Given the description of an element on the screen output the (x, y) to click on. 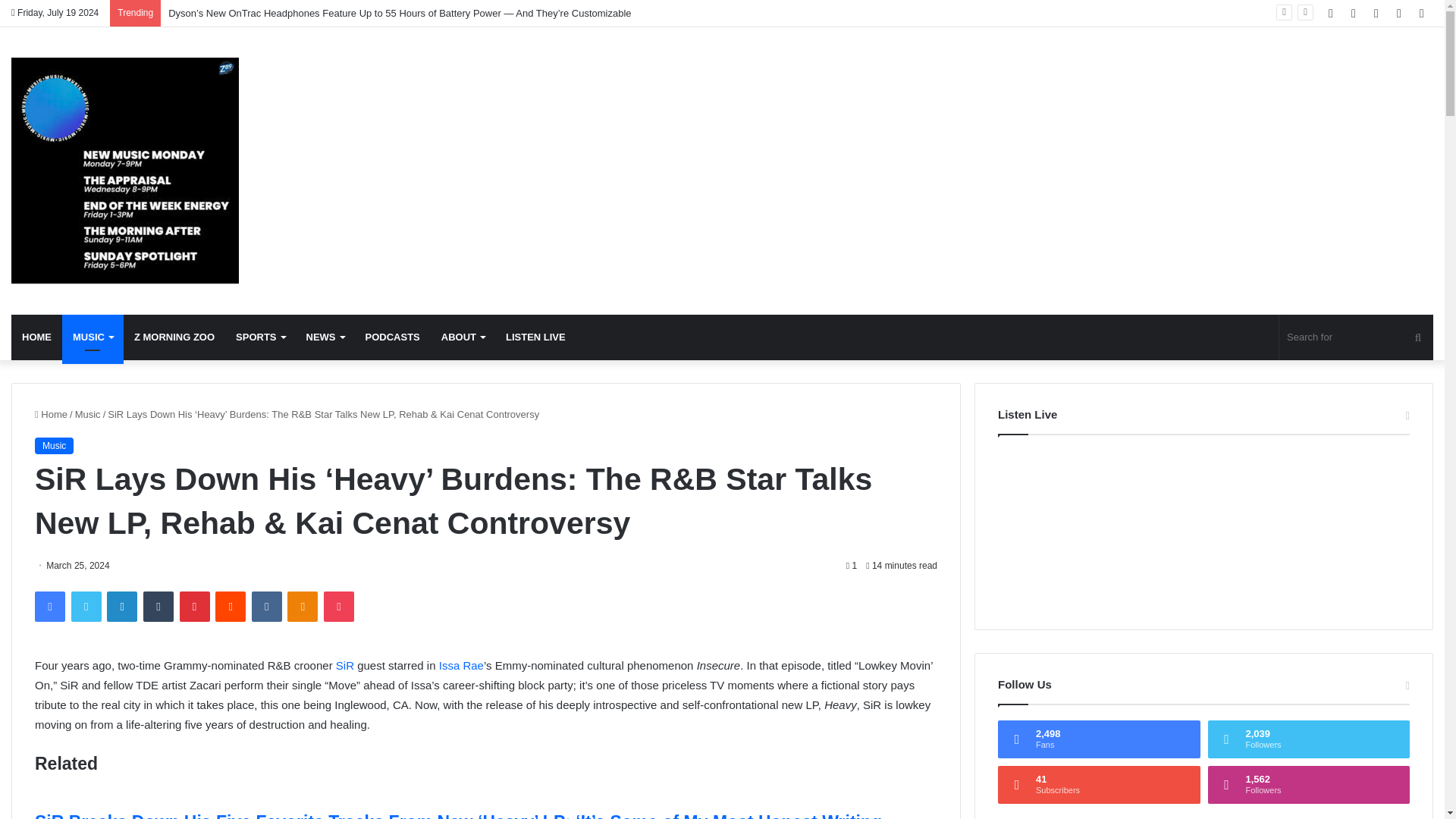
Twitter (86, 606)
Facebook (49, 606)
Tumblr (157, 606)
Search for (1355, 337)
Home (50, 414)
Music (87, 414)
MUSIC (92, 337)
Pocket (338, 606)
Reddit (230, 606)
VKontakte (266, 606)
Z MORNING ZOO (174, 337)
LinkedIn (121, 606)
Pinterest (194, 606)
LISTEN LIVE (535, 337)
Music (124, 170)
